Given the description of an element on the screen output the (x, y) to click on. 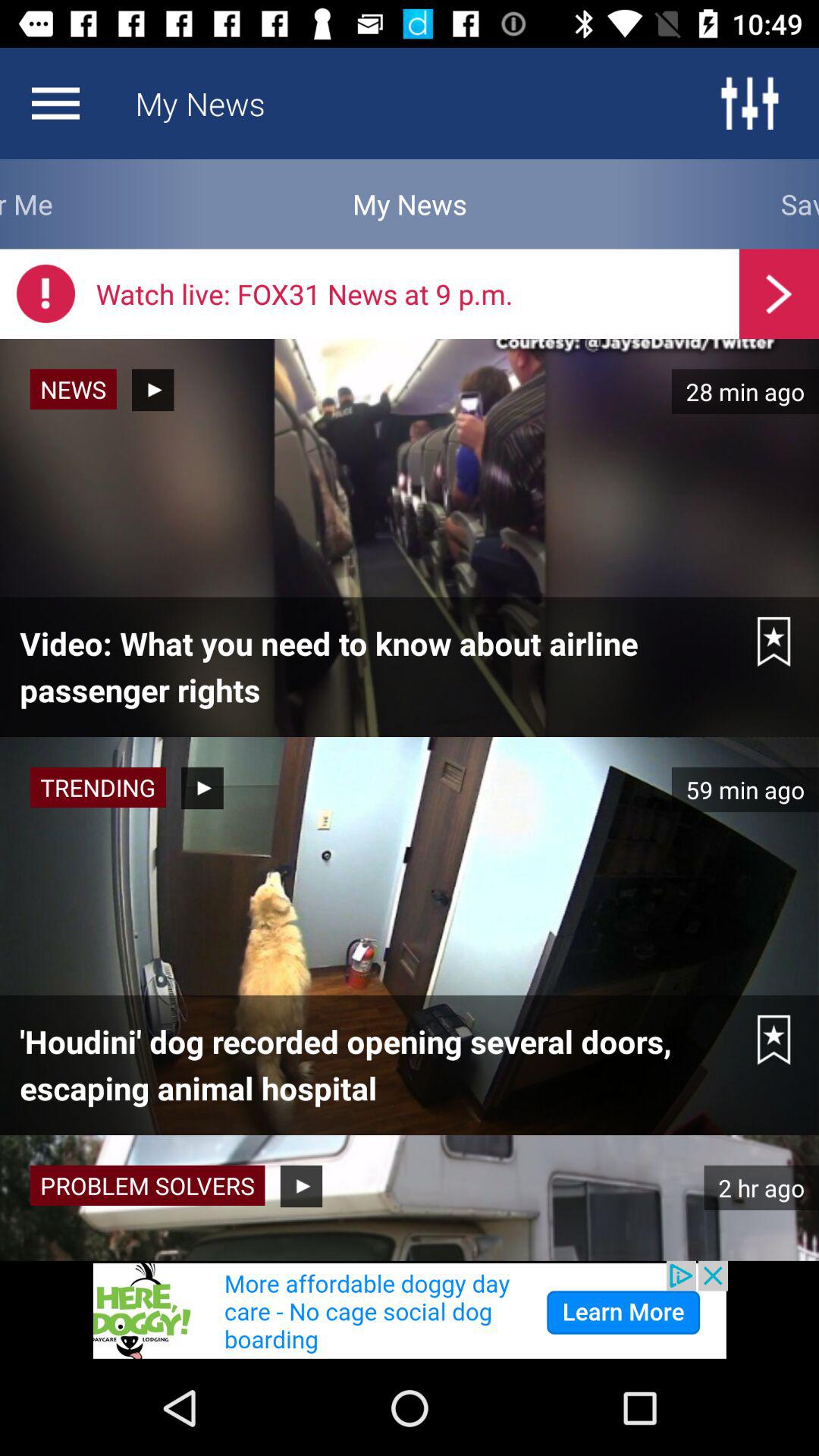
open settings (749, 102)
